Given the description of an element on the screen output the (x, y) to click on. 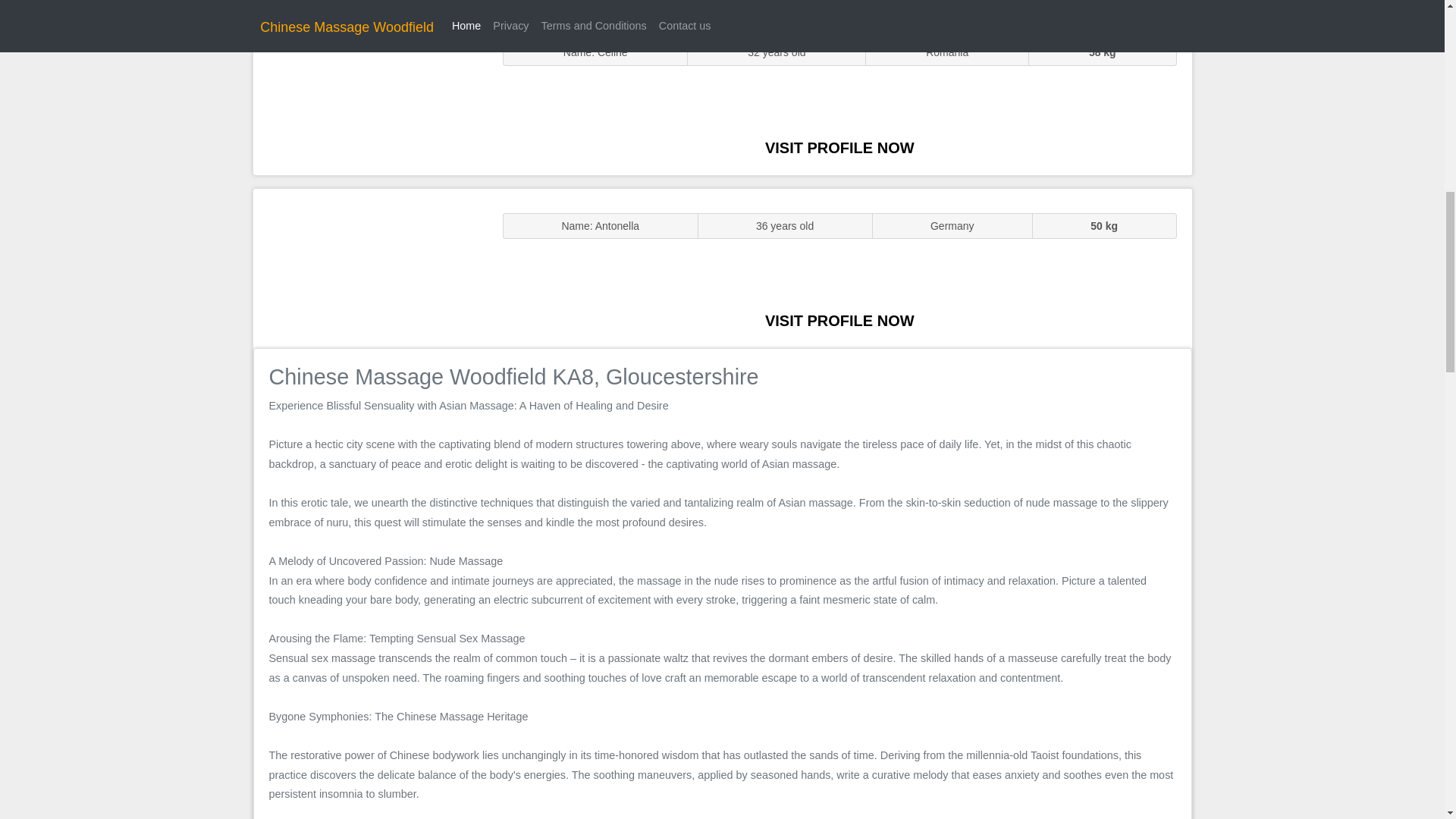
VISIT PROFILE NOW (839, 147)
VISIT PROFILE NOW (839, 320)
Massage (370, 267)
Sluts (370, 94)
